Given the description of an element on the screen output the (x, y) to click on. 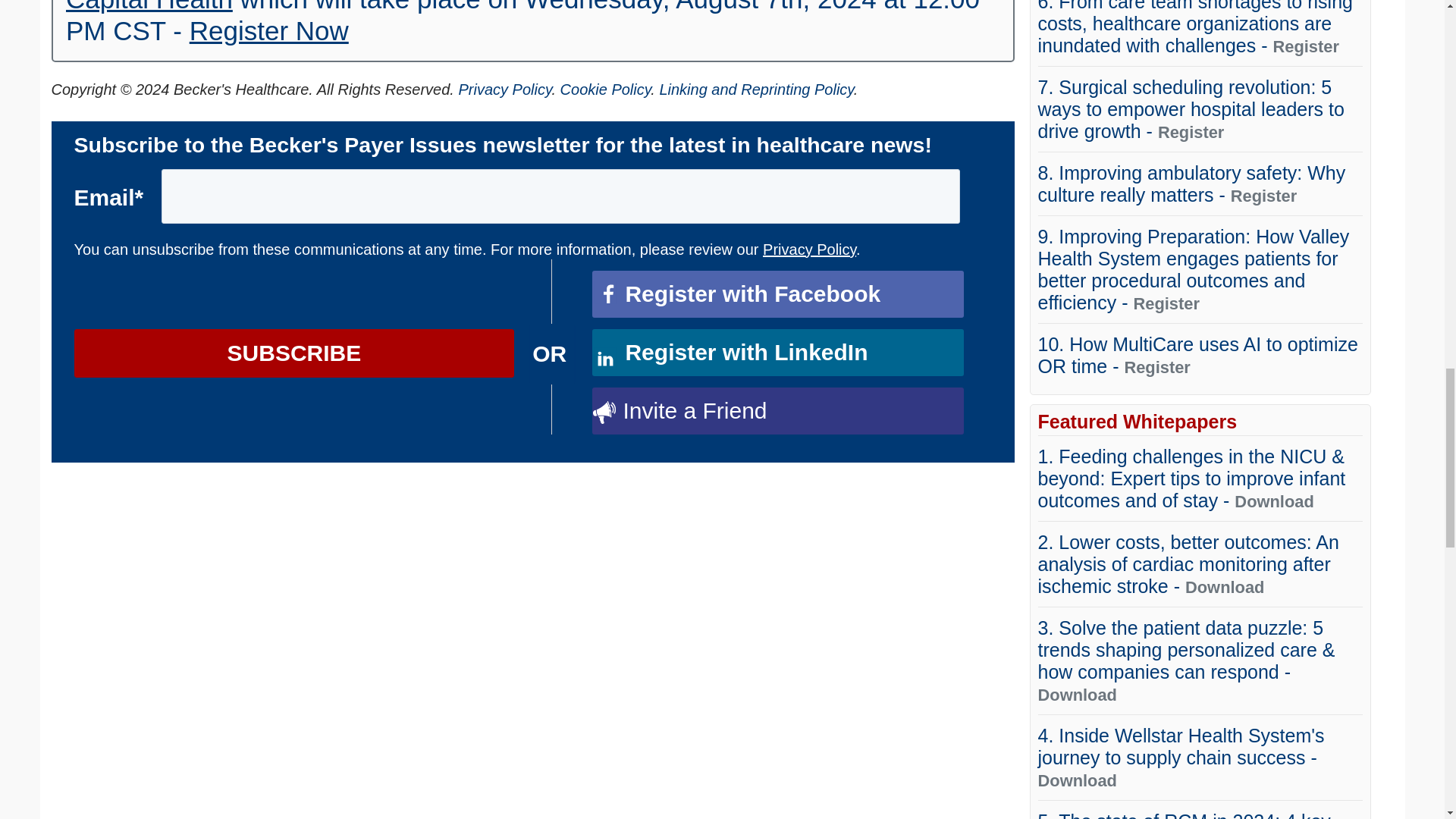
SUBSCRIBE (294, 353)
